Given the description of an element on the screen output the (x, y) to click on. 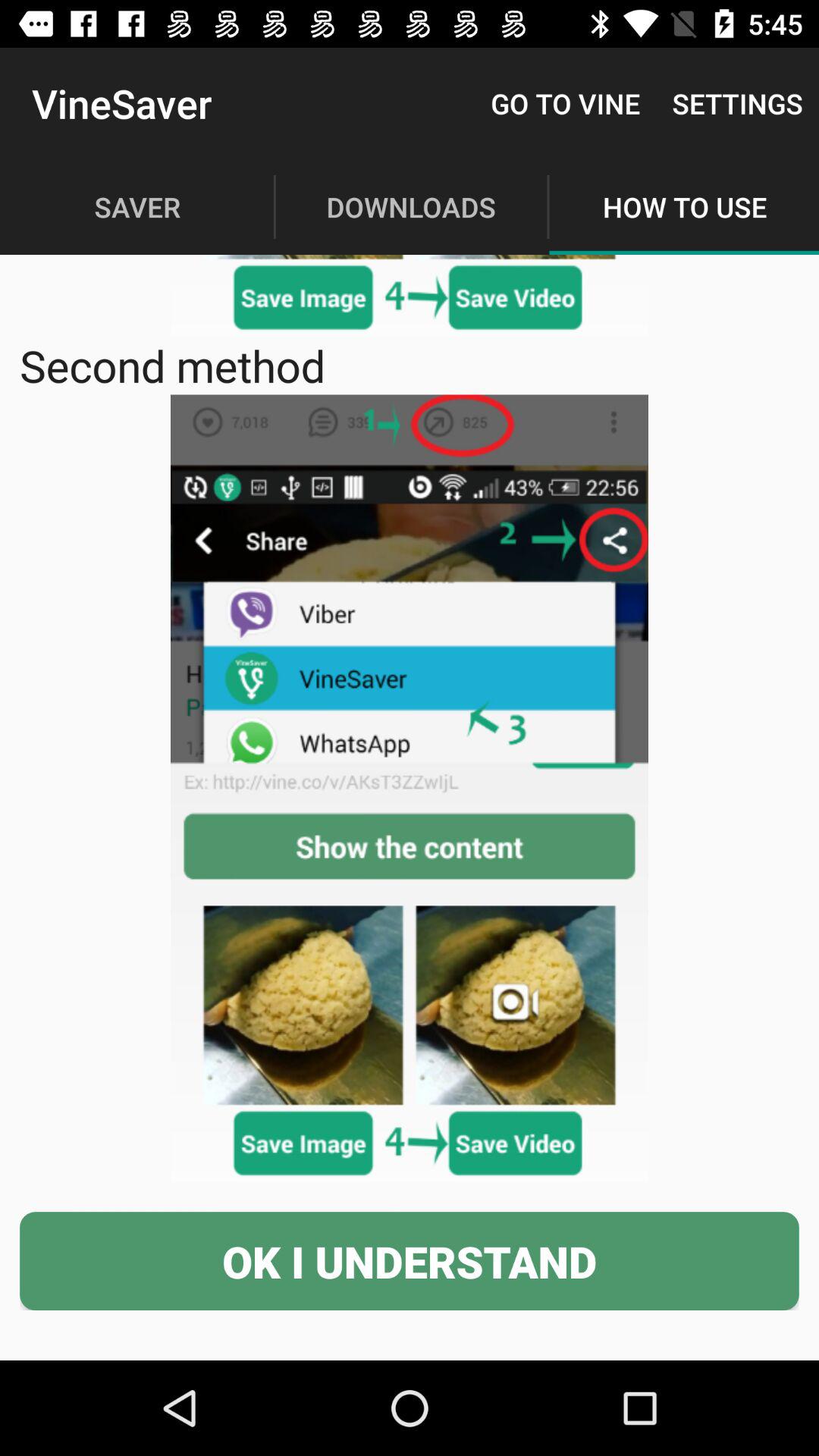
turn off item next to the go to vine icon (737, 103)
